Given the description of an element on the screen output the (x, y) to click on. 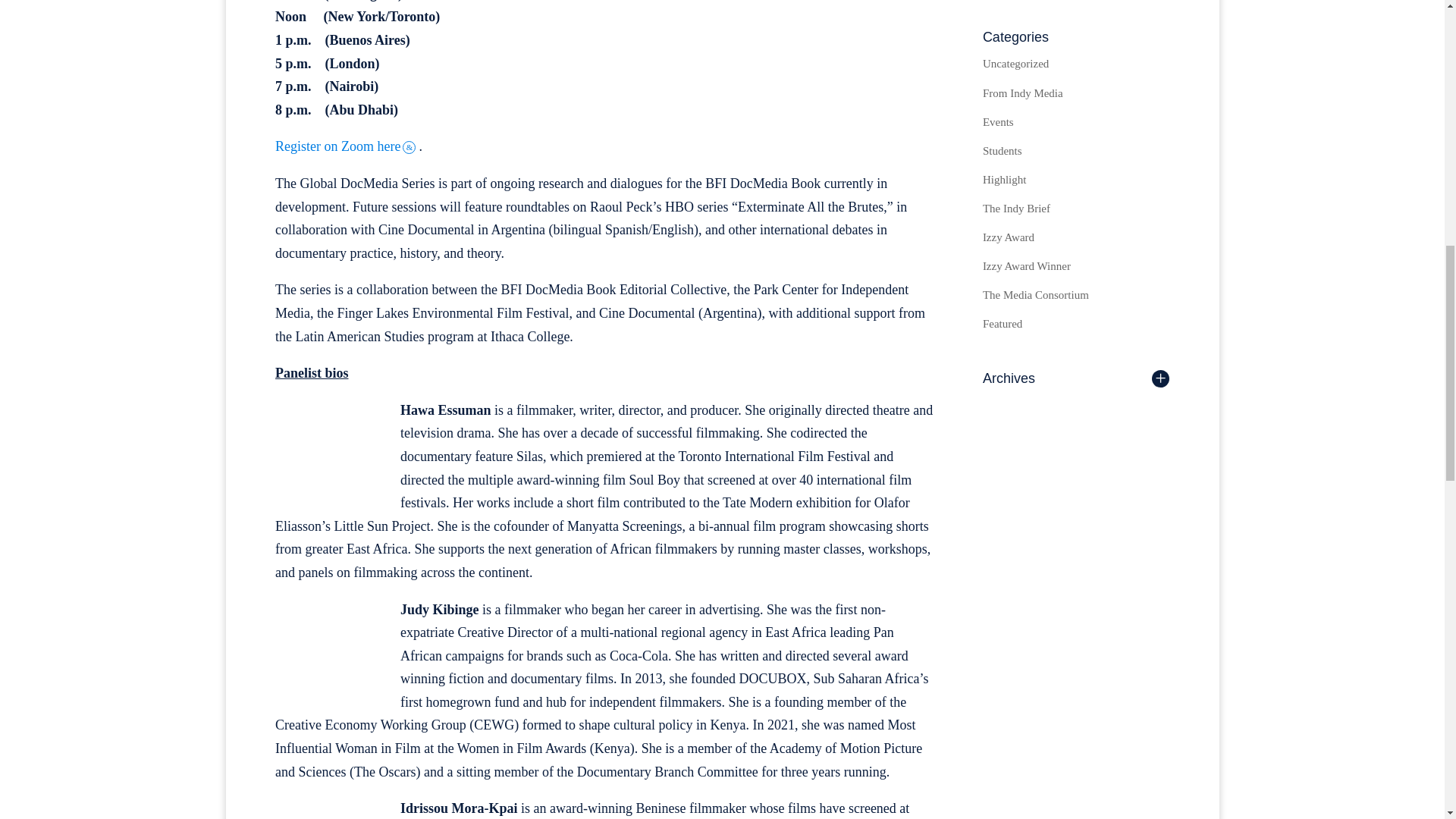
Students (1002, 150)
Highlight (1004, 179)
From Indy Media (1022, 92)
Register on Zoom here (347, 145)
The Indy Brief (1015, 208)
Uncategorized (1015, 63)
Events (997, 121)
Izzy Award Winner (1026, 265)
The Media Consortium (1035, 295)
Izzy Award (1007, 236)
